Given the description of an element on the screen output the (x, y) to click on. 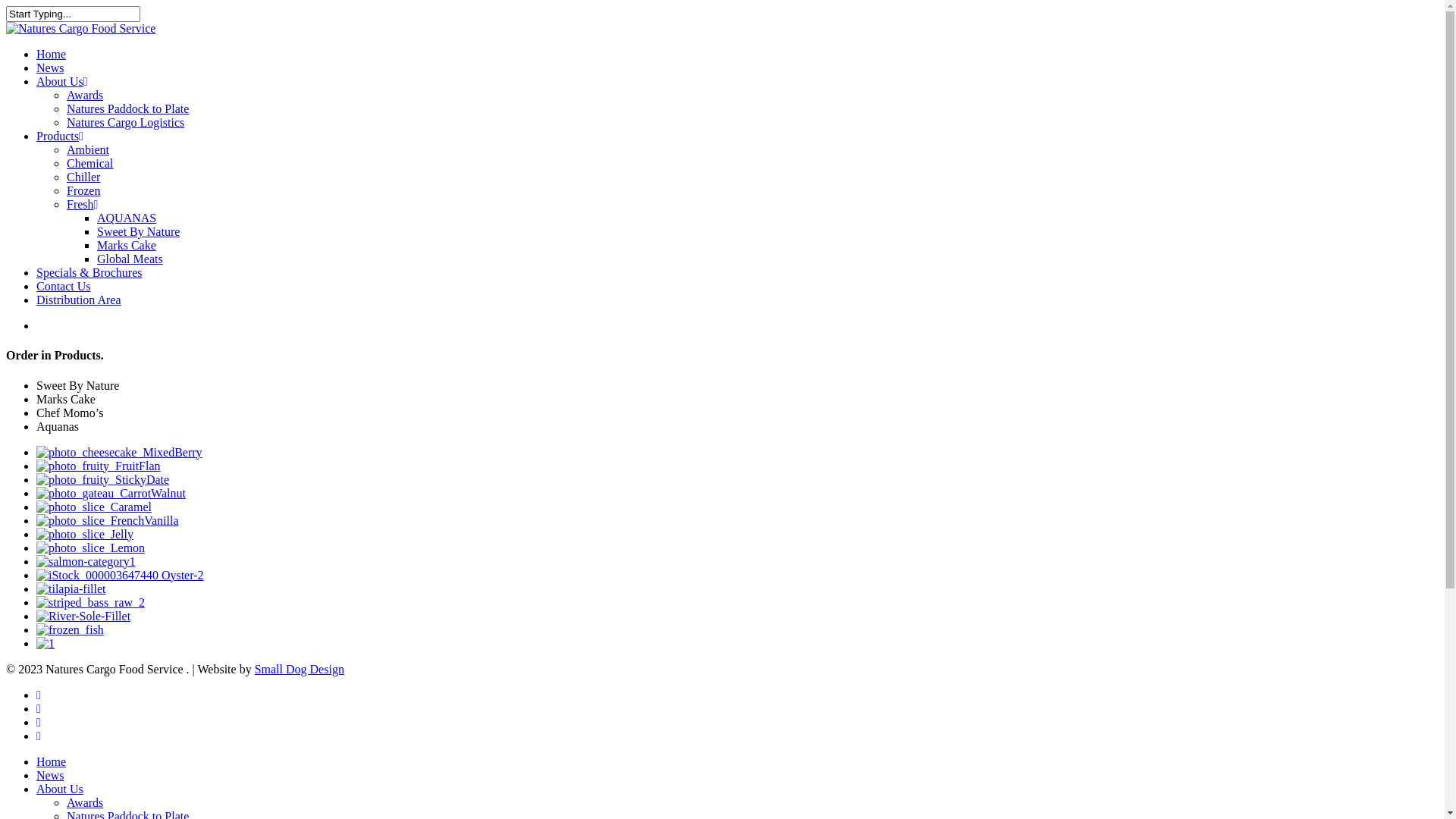
photo_slice_Lemon Element type: hover (90, 548)
iStock_000003647440 Oyster-2 Element type: hover (119, 575)
Awards Element type: text (84, 802)
salmon-category1 Element type: hover (85, 561)
Chiller Element type: text (83, 176)
tilapia-fillet Element type: hover (71, 589)
photo_slice_FrenchVanilla Element type: hover (107, 520)
News Element type: text (49, 67)
striped_bass_raw_2 Element type: hover (90, 602)
Natures Paddock to Plate Element type: text (127, 108)
Marks Cake Element type: text (126, 244)
Home Element type: text (50, 53)
frozen_fish Element type: hover (69, 630)
email Element type: text (38, 735)
Natures Cargo Logistics Element type: text (125, 122)
Home Element type: text (50, 761)
facebook Element type: text (38, 694)
Contact Us Element type: text (63, 285)
News Element type: text (49, 774)
1 Element type: hover (45, 643)
Awards Element type: text (84, 94)
Products Element type: text (59, 135)
instagram Element type: text (38, 708)
Global Meats Element type: text (130, 258)
phone Element type: text (38, 721)
Distribution Area Element type: text (78, 299)
Sweet By Nature Element type: text (138, 231)
Ambient Element type: text (87, 149)
About Us Element type: text (59, 788)
photo_slice_Caramel Element type: hover (93, 507)
Specials & Brochures Element type: text (89, 272)
River-Sole-Fillet Element type: hover (83, 616)
photo_slice_Jelly Element type: hover (84, 534)
About Us Element type: text (61, 81)
photo_cheesecake_MixedBerry Element type: hover (119, 452)
Chemical Element type: text (89, 162)
photo_fruity_StickyDate Element type: hover (102, 479)
photo_fruity_FruitFlan Element type: hover (98, 466)
photo_gateau_CarrotWalnut Element type: hover (110, 493)
Frozen Element type: text (83, 190)
Small Dog Design Element type: text (299, 668)
Fresh Element type: text (81, 203)
Skip to main content Element type: text (5, 5)
AQUANAS Element type: text (126, 217)
